Given the description of an element on the screen output the (x, y) to click on. 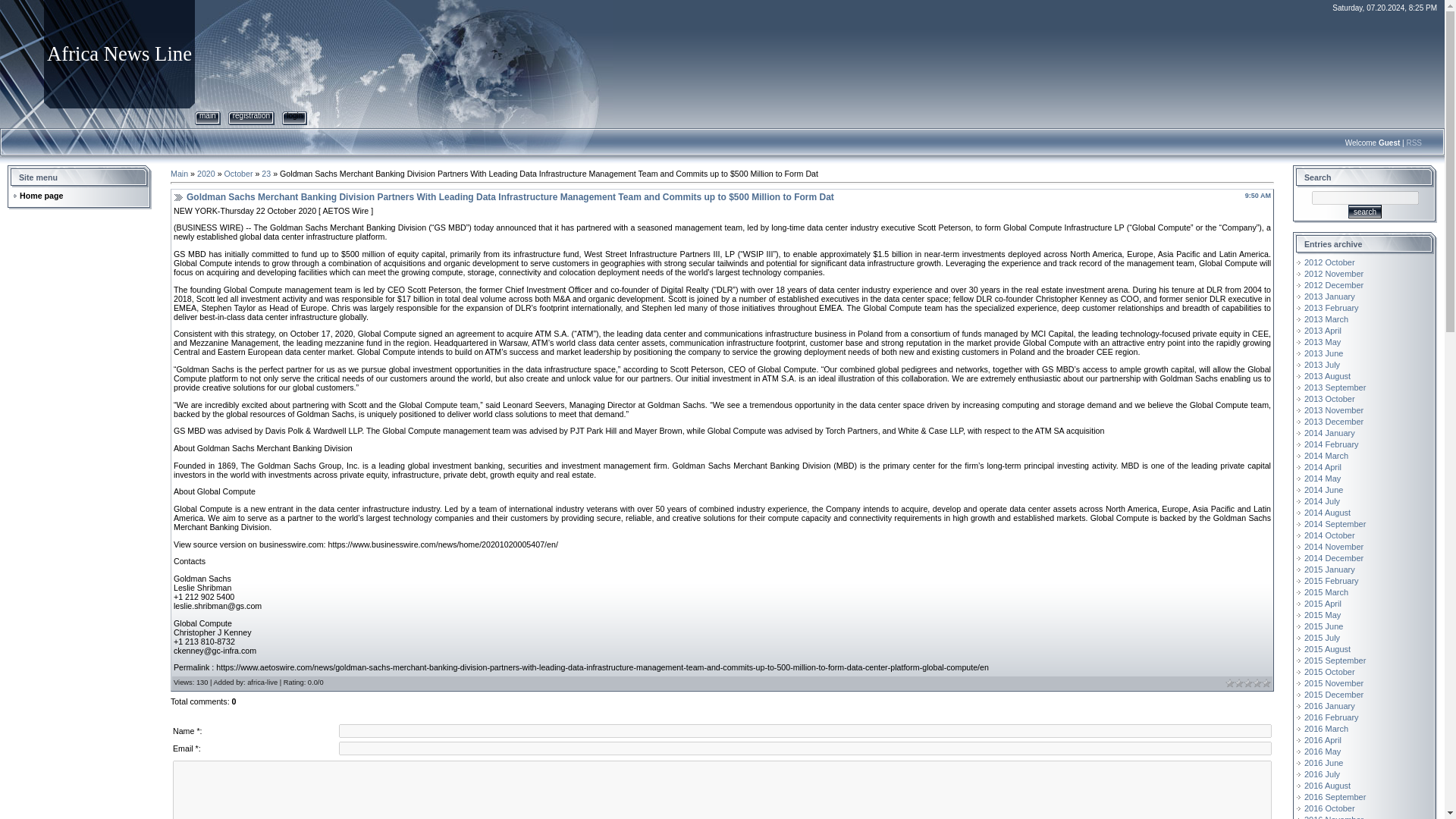
Main (178, 173)
3 (1247, 682)
Home page (41, 194)
login (294, 115)
23 (266, 173)
main (207, 115)
2014 August (1327, 511)
Search (1364, 211)
2013 March (1326, 318)
2013 February (1331, 307)
2014 May (1322, 478)
2013 June (1323, 352)
Search (1364, 211)
2 (1238, 682)
2013 December (1333, 420)
